Given the description of an element on the screen output the (x, y) to click on. 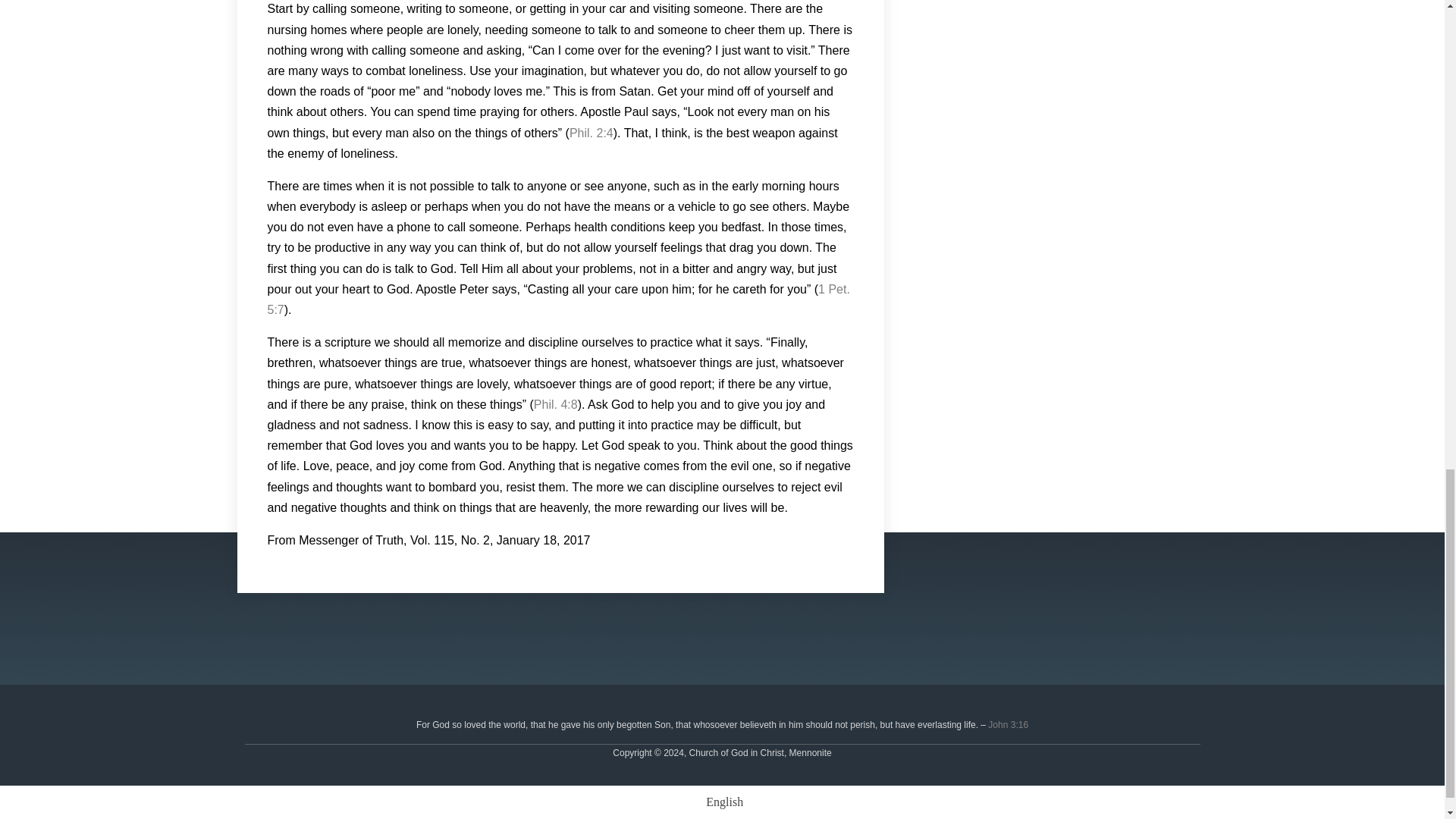
John 3:16 (1007, 724)
1 Pet. 5:7 (557, 299)
English (722, 802)
Phil. 2:4 (590, 132)
Phil. 4:8 (556, 404)
COGICM KJV (1007, 724)
